Given the description of an element on the screen output the (x, y) to click on. 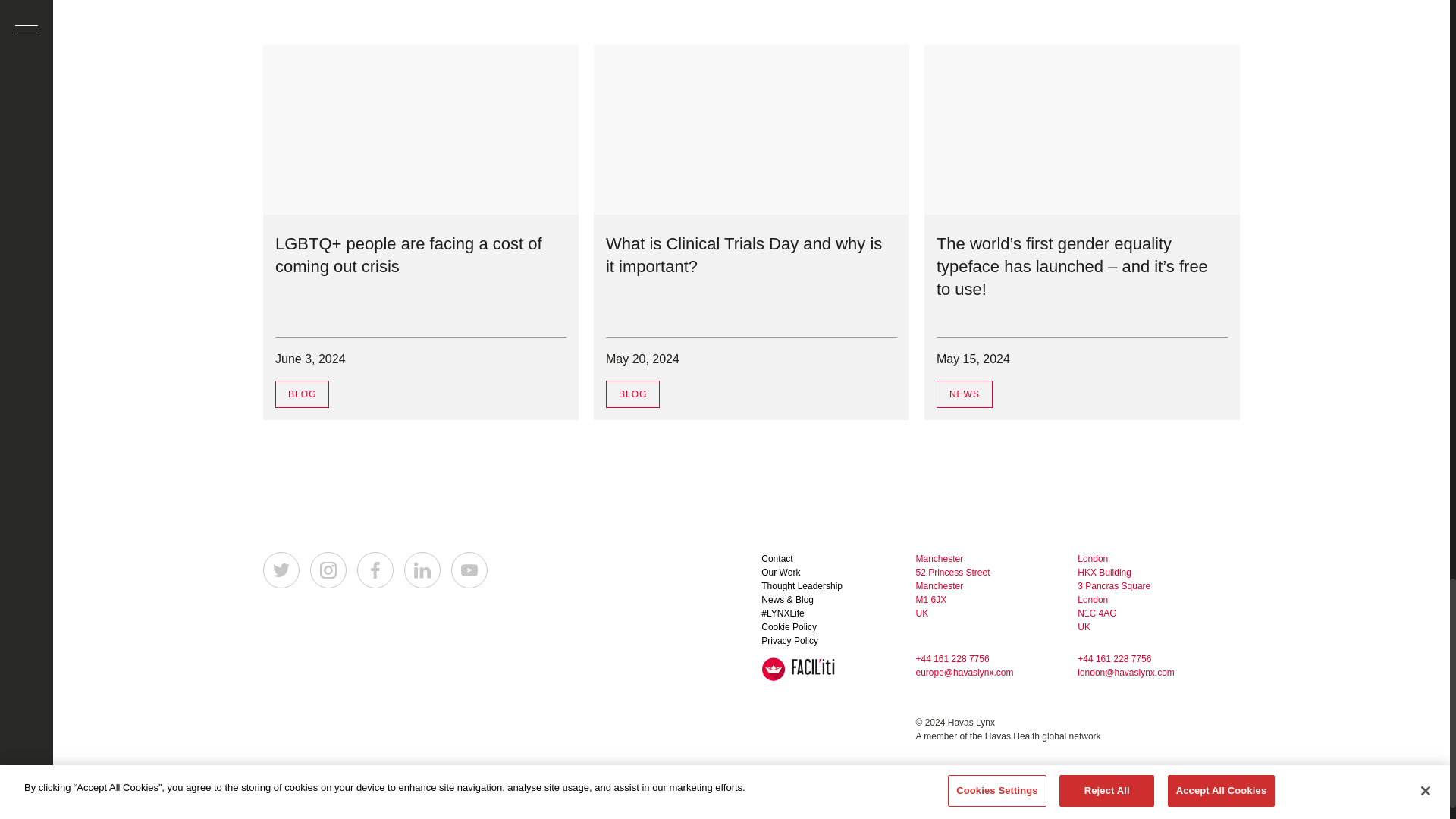
Blog (302, 393)
Contact (776, 558)
NEWS (964, 393)
BLOG (632, 393)
Privacy Policy (789, 640)
What is Clinical Trials Day and why is it important? (743, 255)
What is Clinical Trials Day and why is it important? (743, 255)
Our Work (780, 572)
Thought Leadership (802, 585)
BLOG (302, 393)
